Given the description of an element on the screen output the (x, y) to click on. 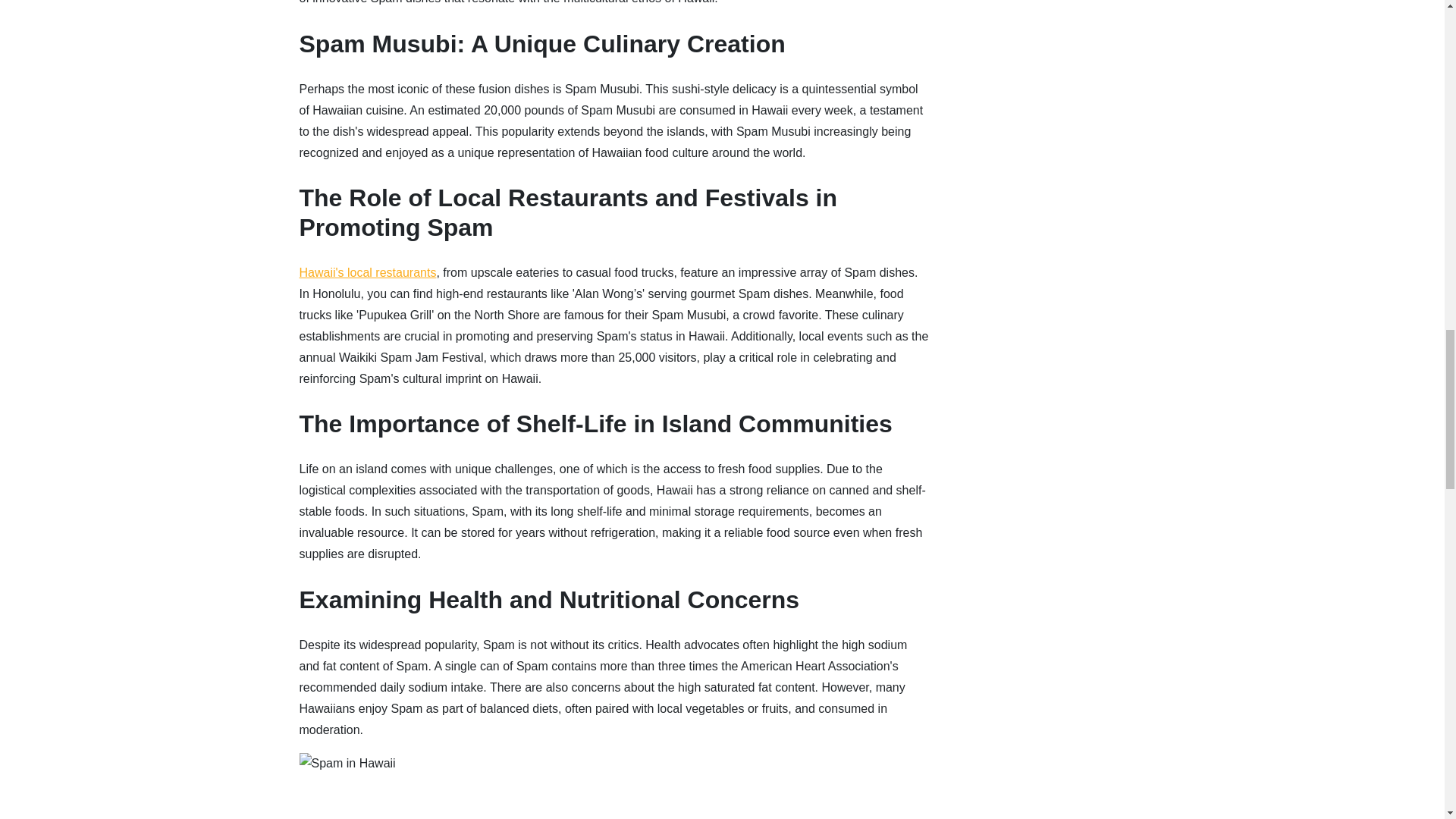
Hawaii's local restaurants (366, 272)
